Given the description of an element on the screen output the (x, y) to click on. 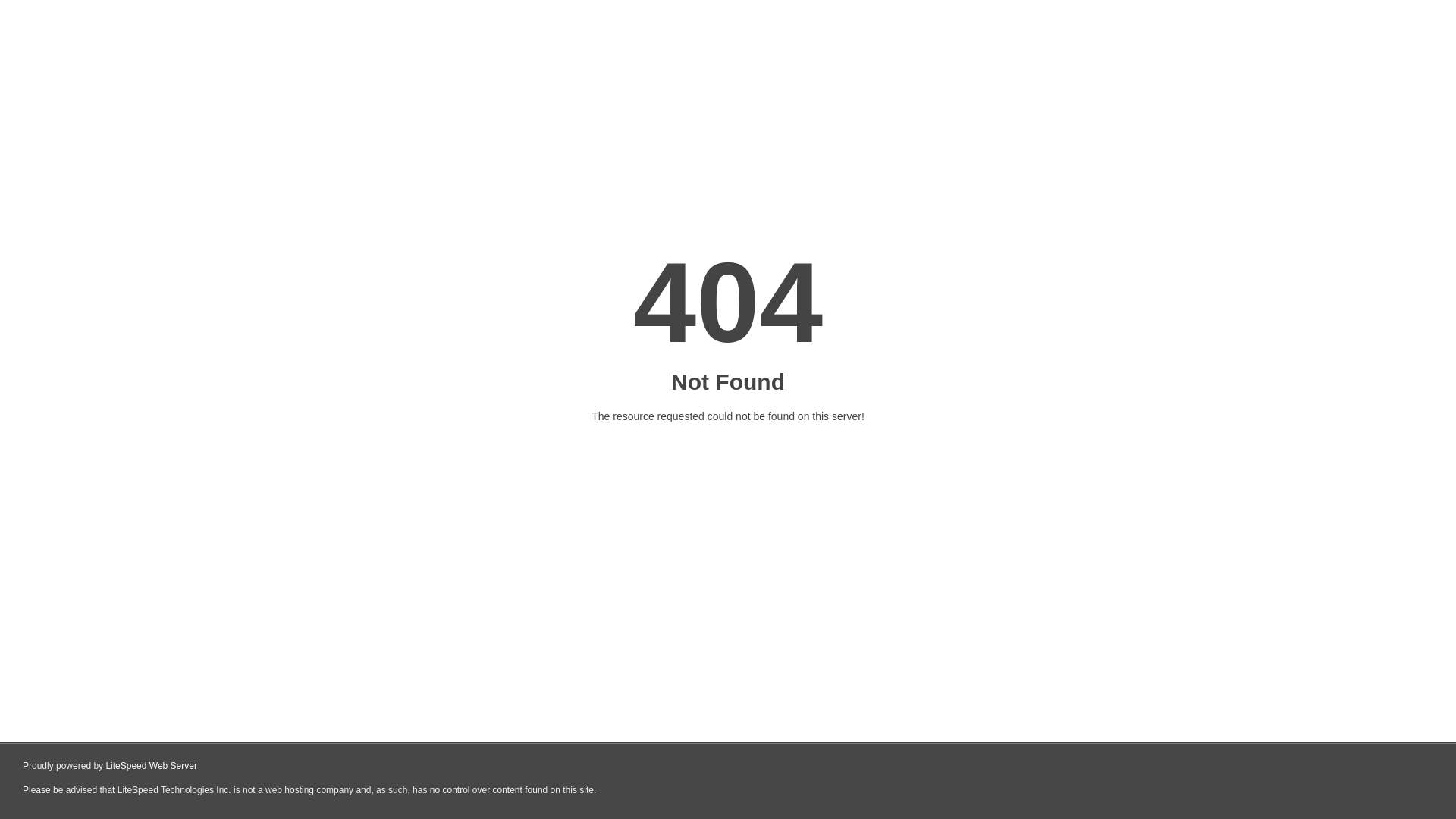
LiteSpeed Web Server Element type: text (151, 765)
